Given the description of an element on the screen output the (x, y) to click on. 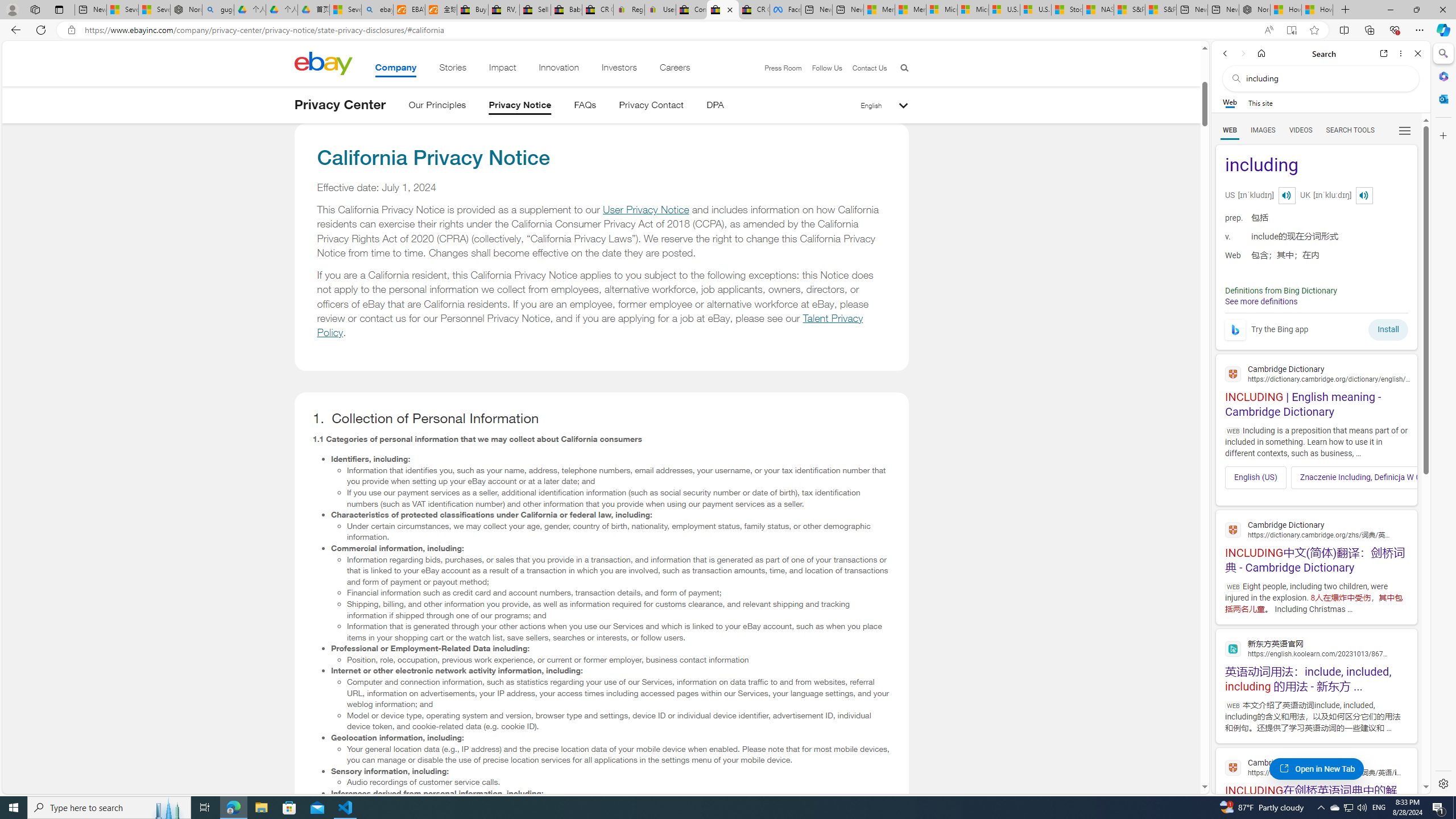
Search Filter, IMAGES (1262, 129)
Search Filter, WEB (1230, 129)
Open link in new tab (1383, 53)
Talent Privacy Policy (590, 325)
Enter Immersive Reader (F9) (1291, 29)
